Given the description of an element on the screen output the (x, y) to click on. 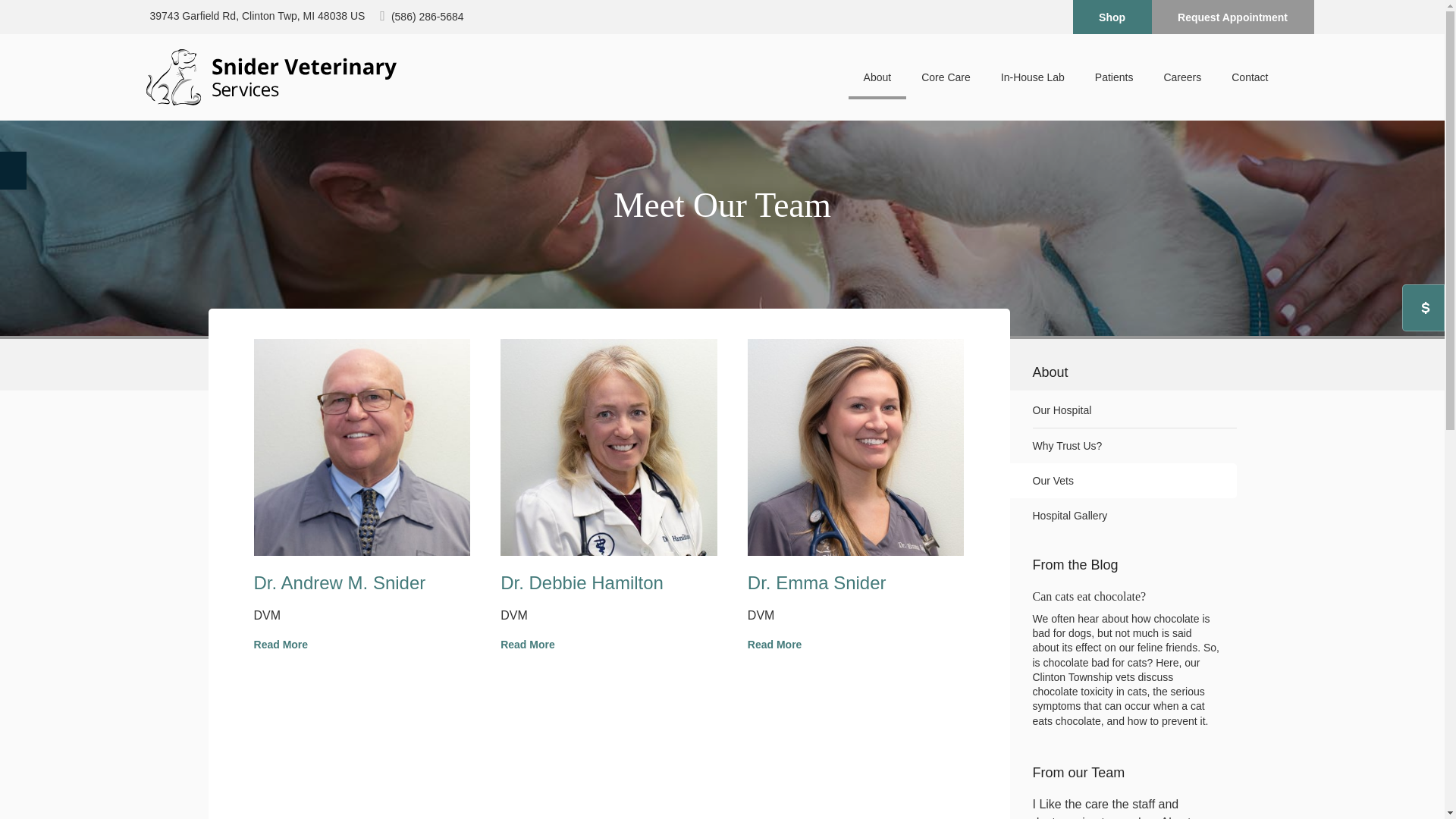
Shop (1112, 17)
About (877, 77)
Core Care (945, 77)
Request Appointment (1232, 17)
